Given the description of an element on the screen output the (x, y) to click on. 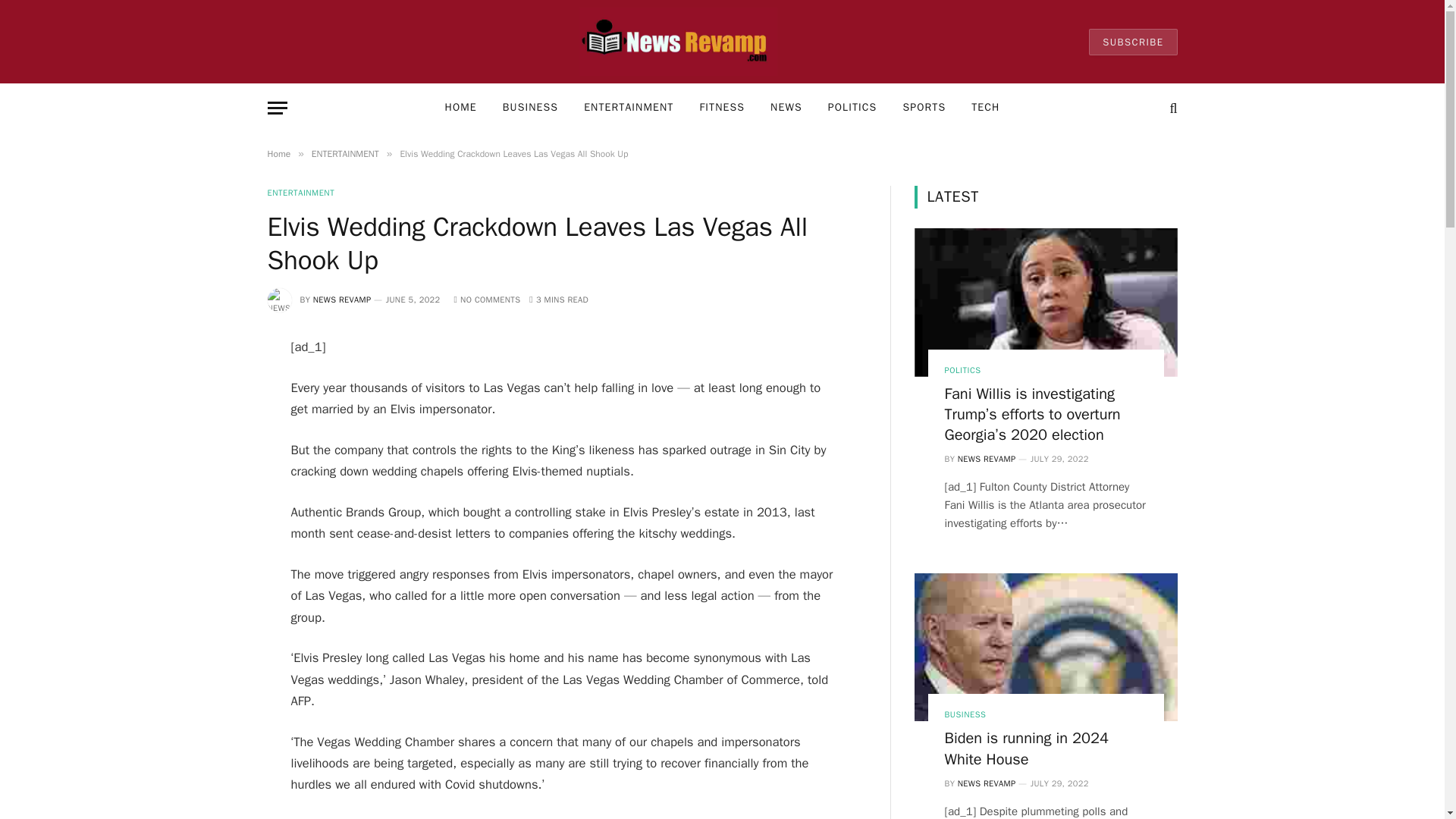
HOME (460, 107)
Posts by News Revamp (342, 299)
ENTERTAINMENT (300, 192)
ENTERTAINMENT (627, 107)
FITNESS (721, 107)
Posts by News Revamp (987, 458)
TECH (984, 107)
NEWS REVAMP (342, 299)
BUSINESS (529, 107)
News Revamp (677, 41)
